Given the description of an element on the screen output the (x, y) to click on. 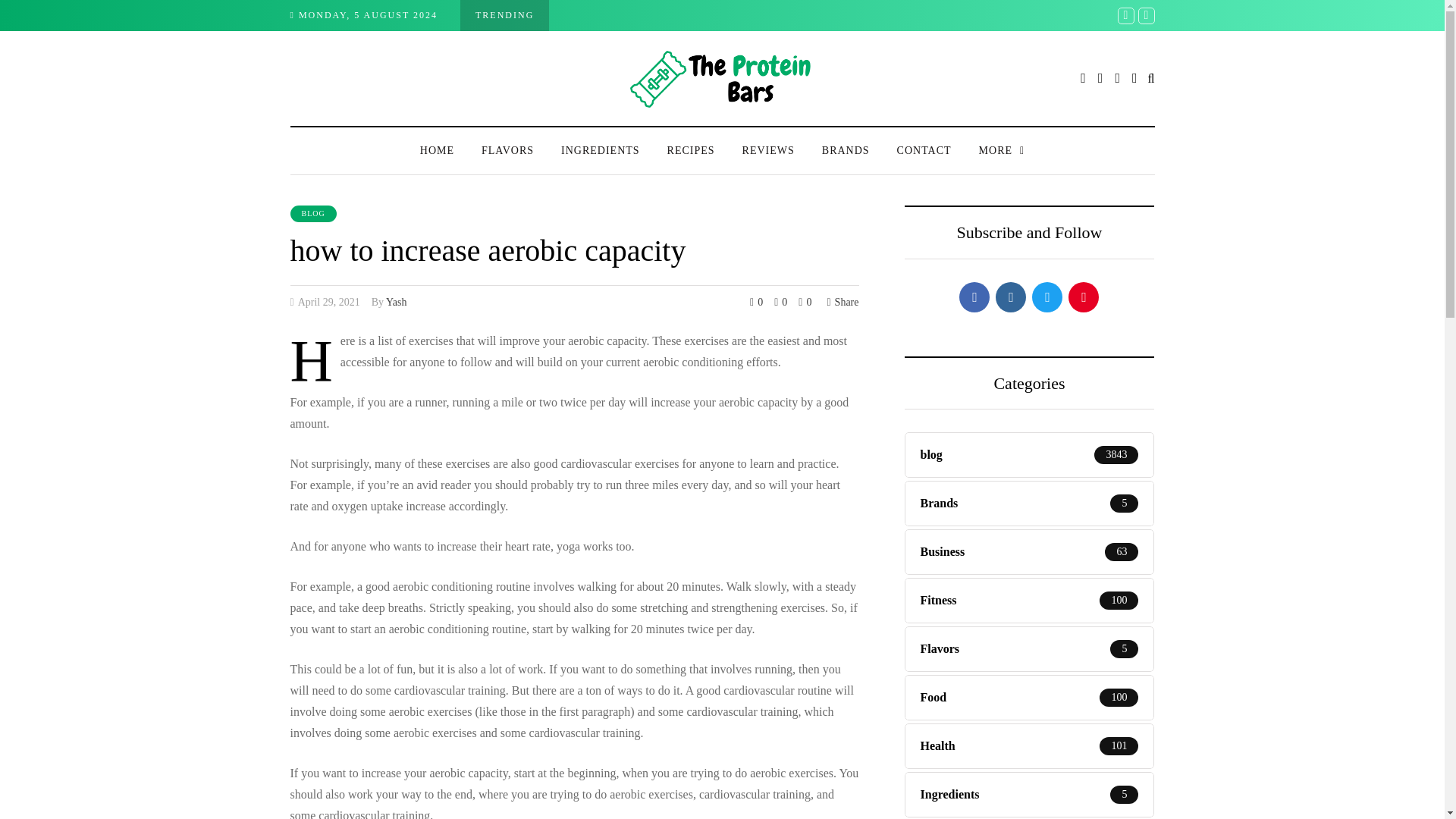
FLAVORS (507, 150)
HOME (436, 150)
MORE (1002, 150)
BLOG (312, 213)
Yash (395, 301)
Posts by Yash (395, 301)
RECIPES (691, 150)
BRANDS (845, 150)
INGREDIENTS (600, 150)
REVIEWS (768, 150)
CONTACT (924, 150)
